Given the description of an element on the screen output the (x, y) to click on. 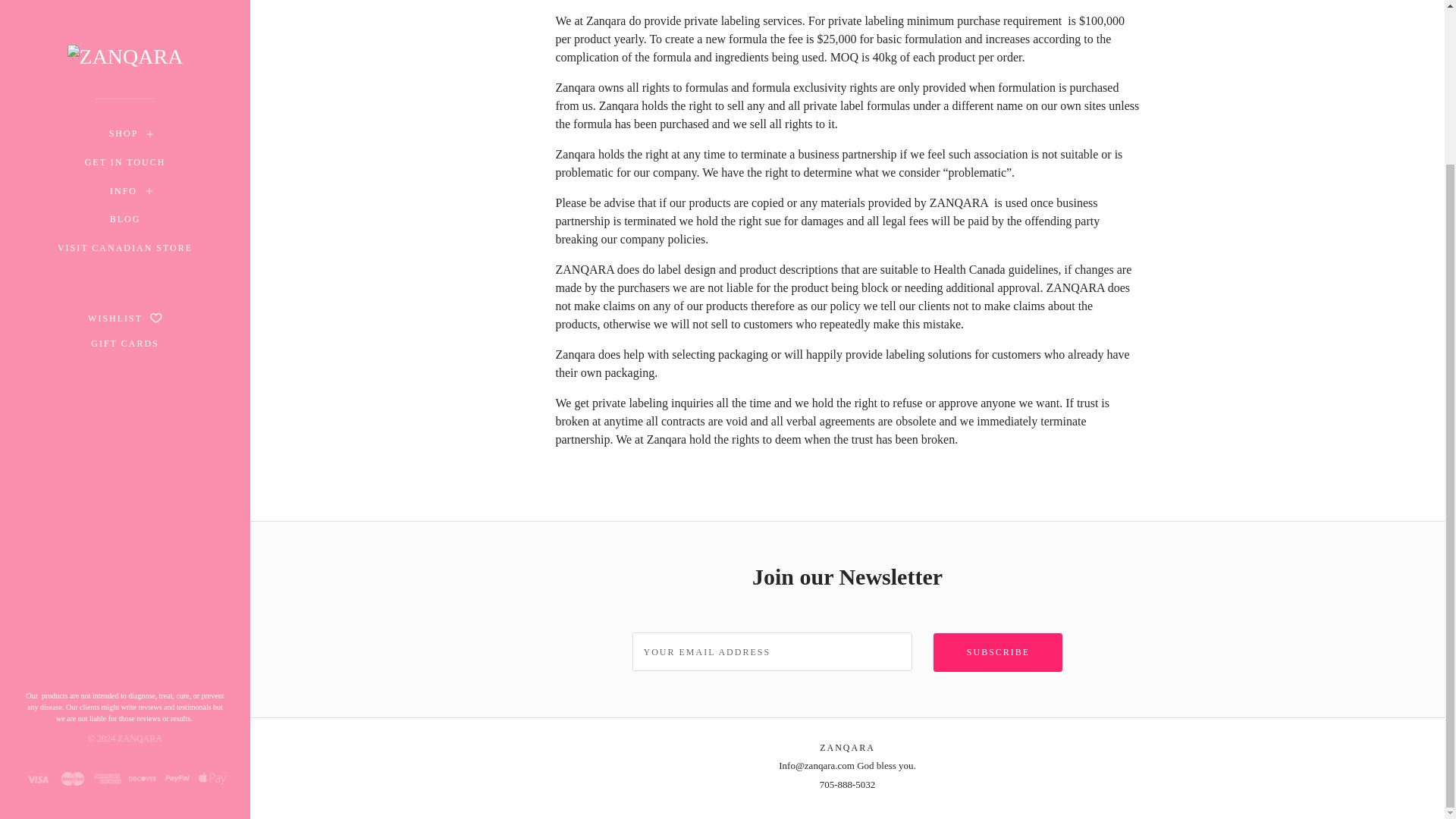
Subscribe (997, 652)
